Given the description of an element on the screen output the (x, y) to click on. 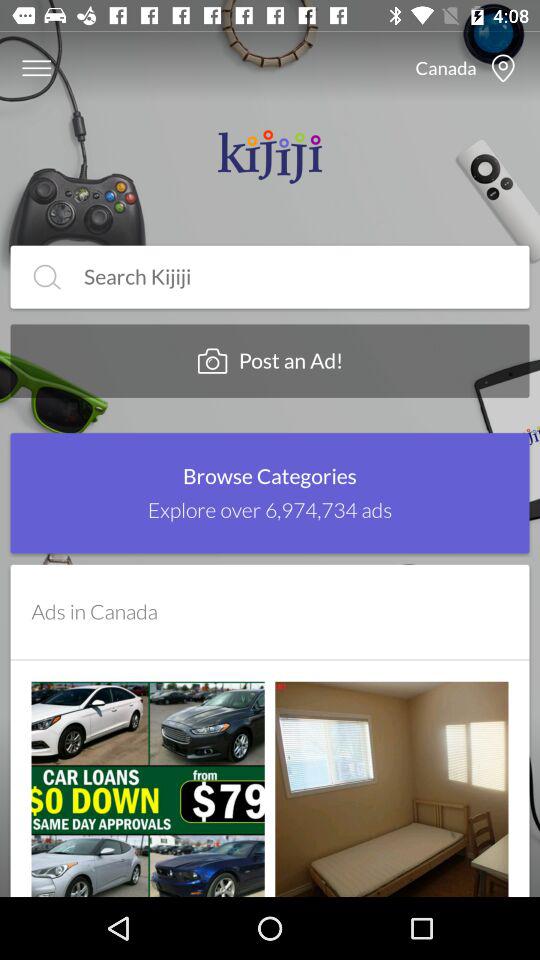
click on the logo kijiji (269, 156)
